Given the description of an element on the screen output the (x, y) to click on. 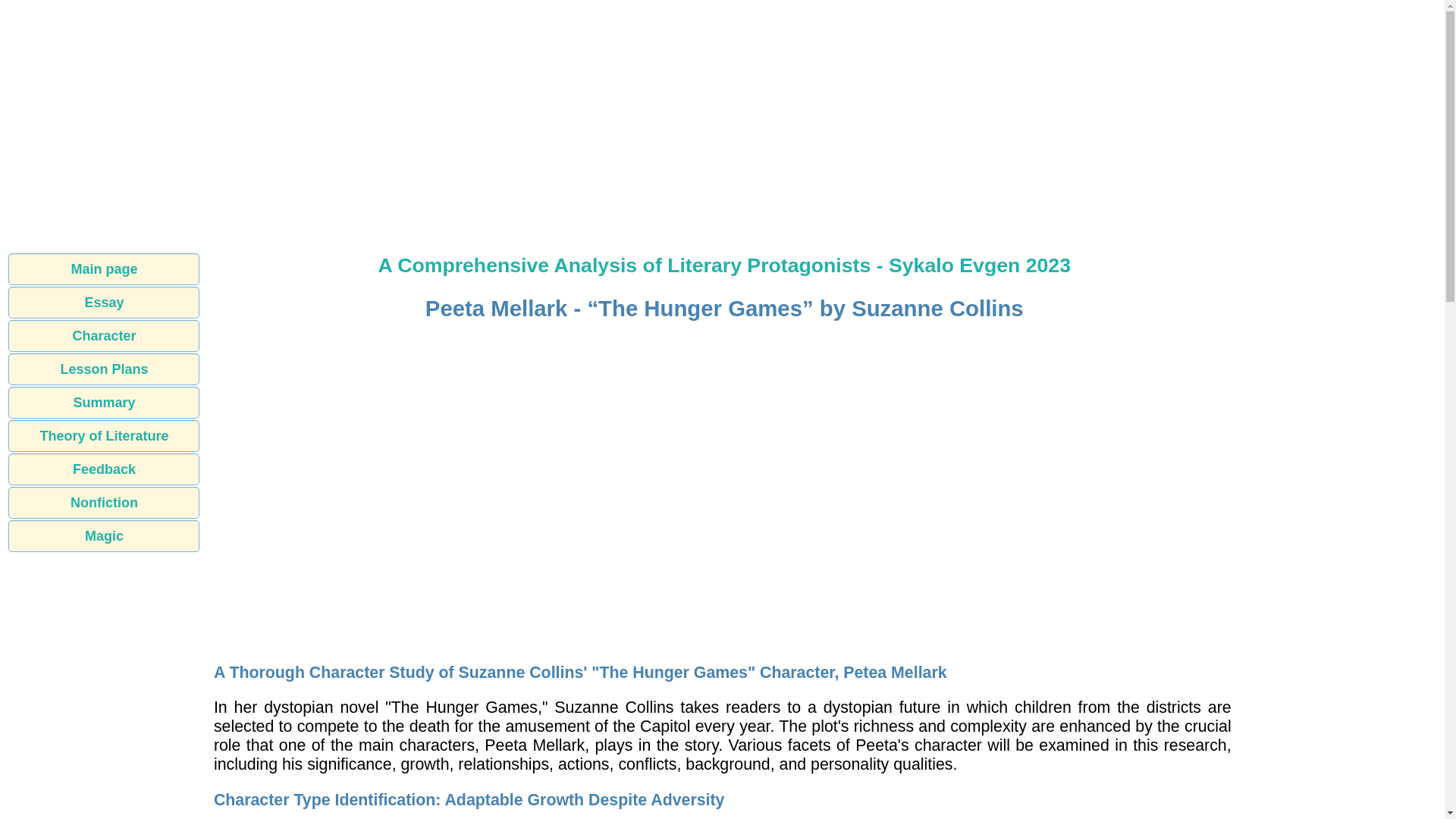
Summary (103, 402)
Main page (103, 269)
Character (103, 336)
Nonfiction (103, 502)
Essay (103, 302)
Feedback (103, 469)
Theory of Literature (103, 436)
Lesson Plans (103, 368)
Magic (103, 536)
